Given the description of an element on the screen output the (x, y) to click on. 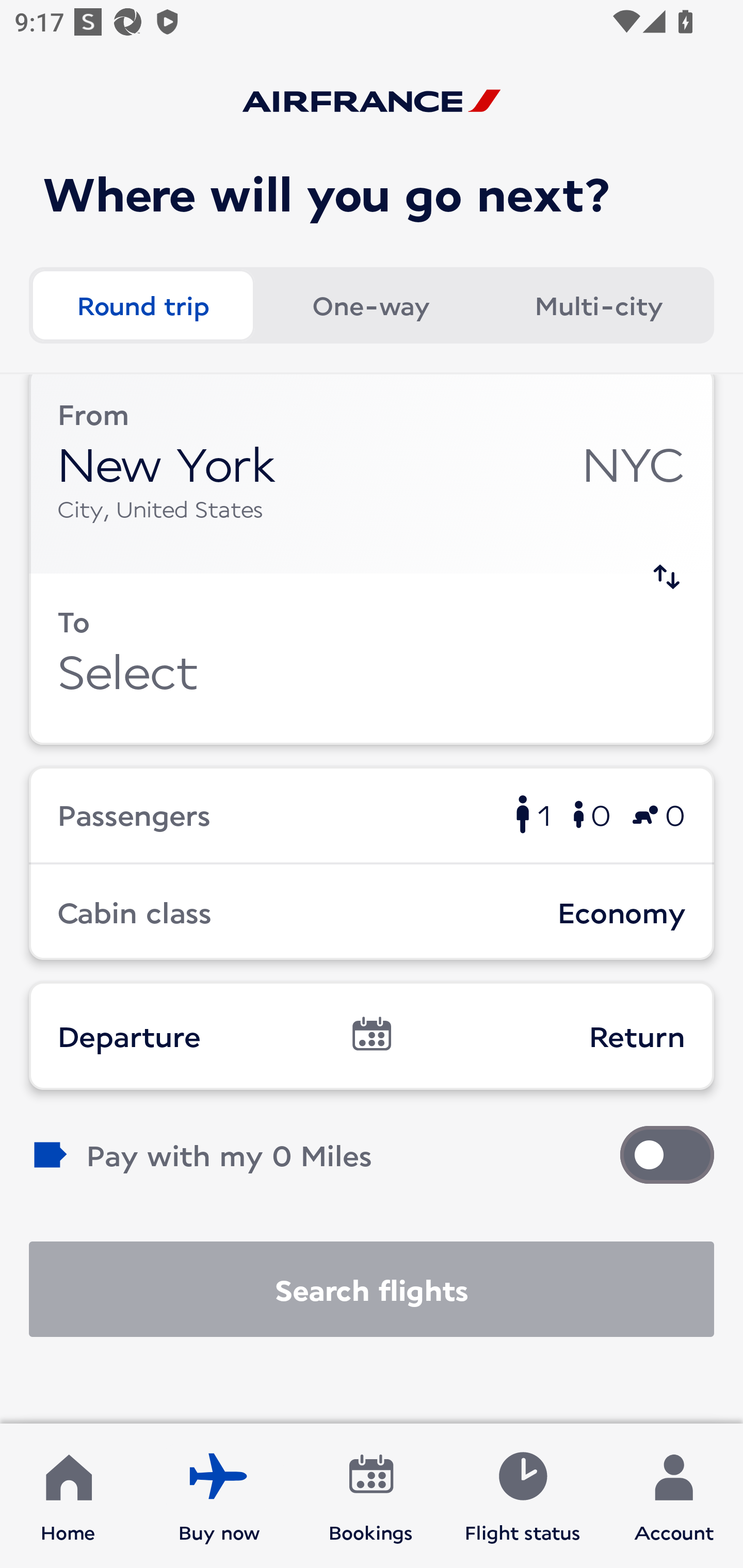
Round trip (142, 304)
One-way (370, 304)
Multi-city (598, 304)
From New York NYC City, United States (371, 473)
To Select (371, 658)
Passengers 1 0 0 (371, 814)
Cabin class Economy (371, 911)
Departure Return (371, 1035)
Search flights (371, 1289)
Home (68, 1495)
Bookings (370, 1495)
Flight status (522, 1495)
Account (674, 1495)
